Given the description of an element on the screen output the (x, y) to click on. 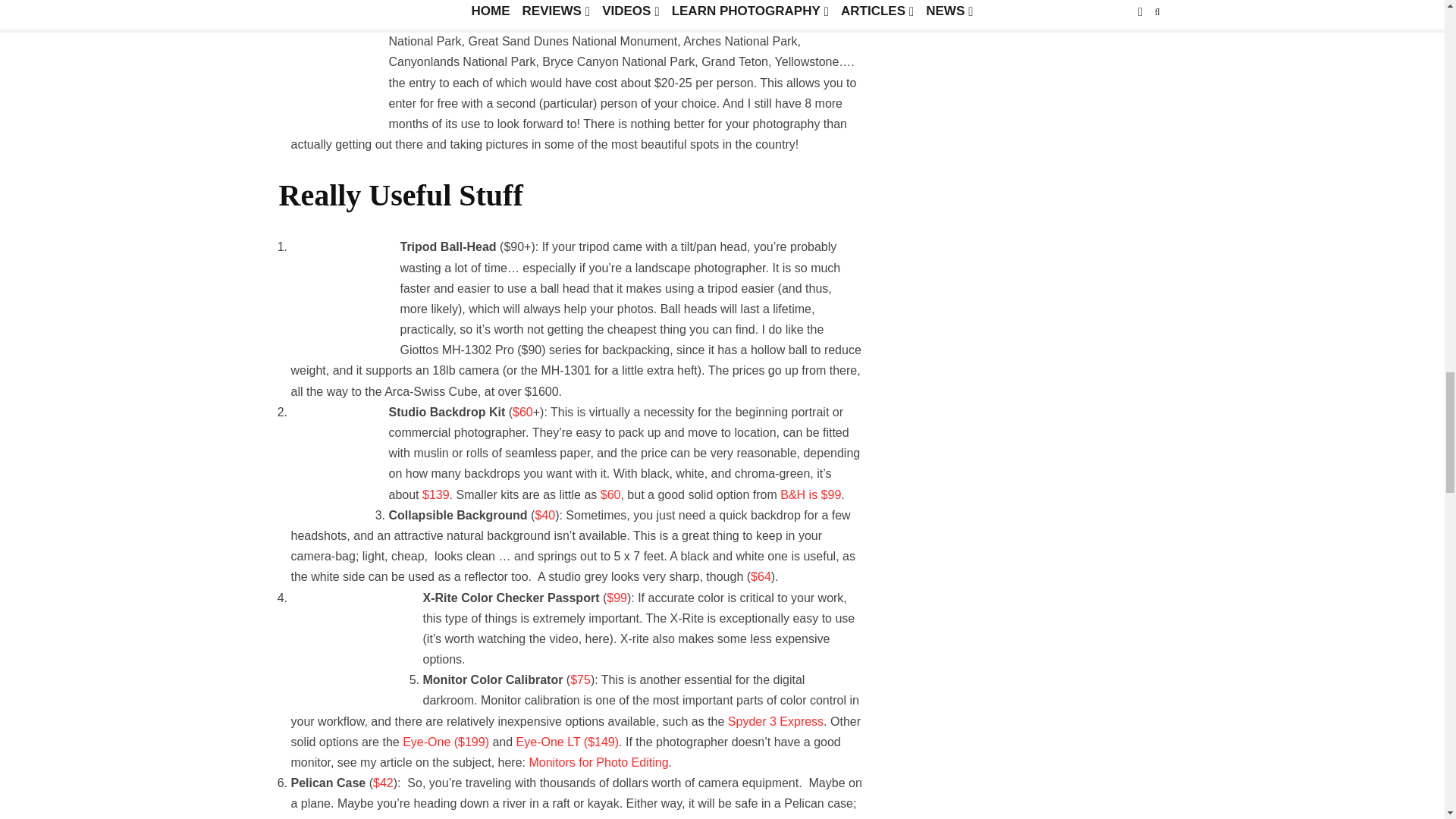
colorcheker (347, 640)
backdrop (331, 448)
ballheads (336, 289)
